Given the description of an element on the screen output the (x, y) to click on. 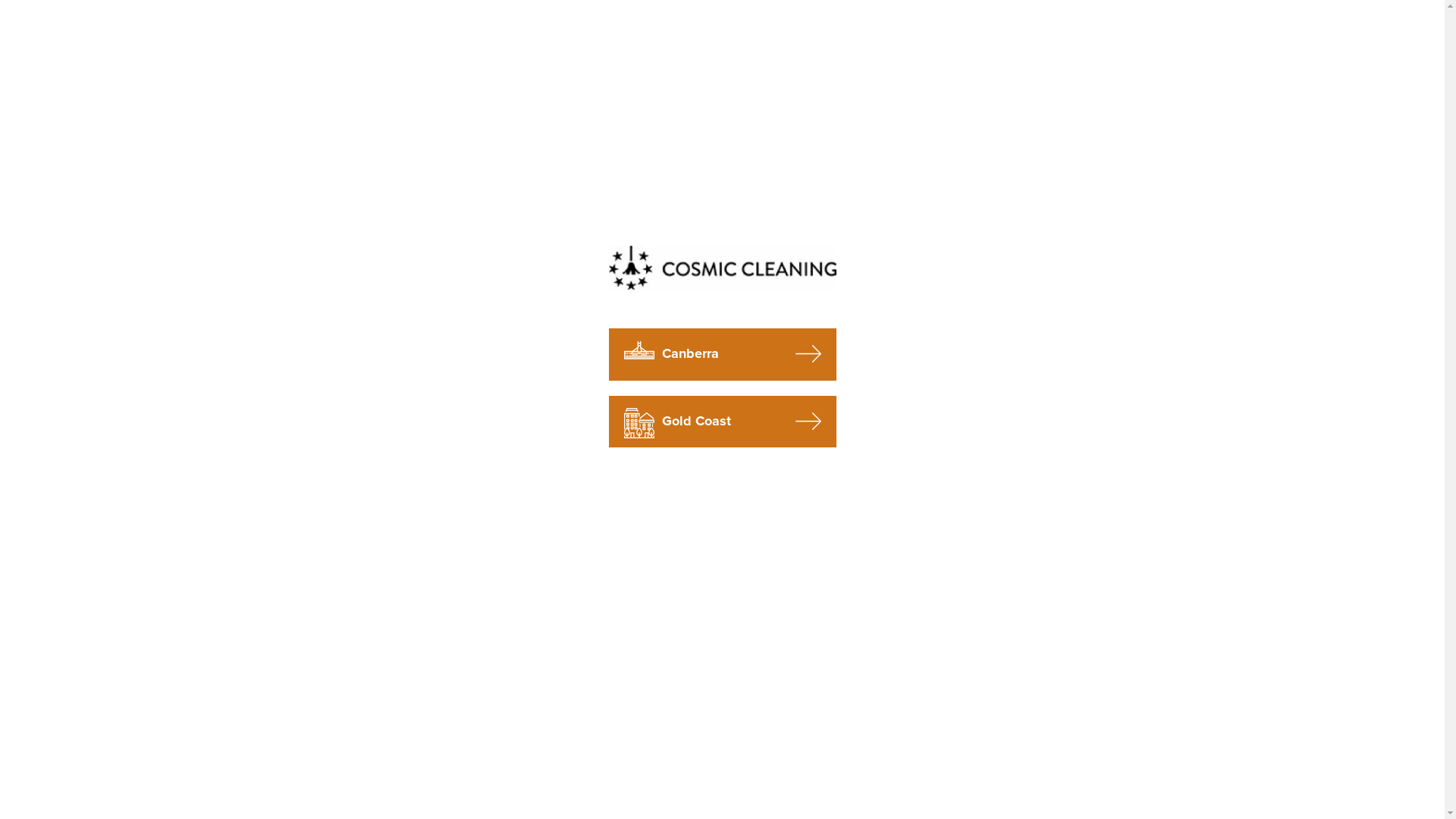
Canberra Element type: text (721, 353)
Gold Coast Element type: text (721, 421)
